Given the description of an element on the screen output the (x, y) to click on. 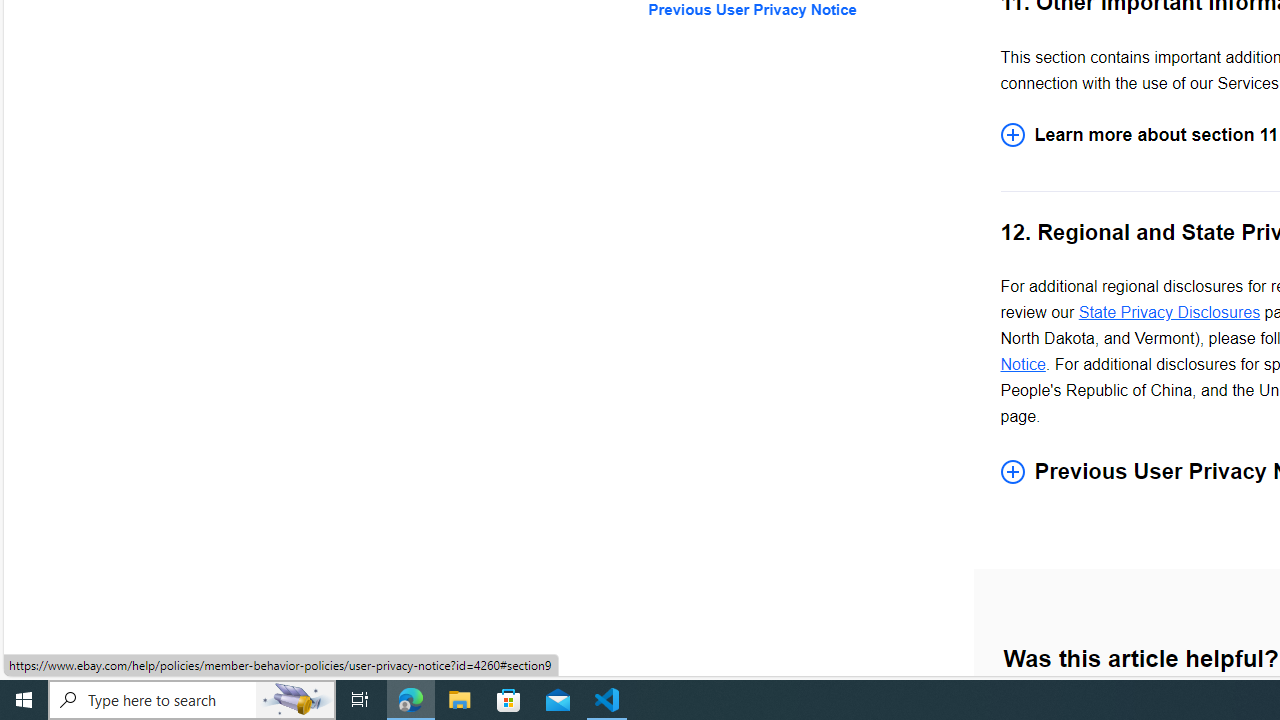
State Privacy Disclosures - opens in new window or tab (1168, 312)
